Given the description of an element on the screen output the (x, y) to click on. 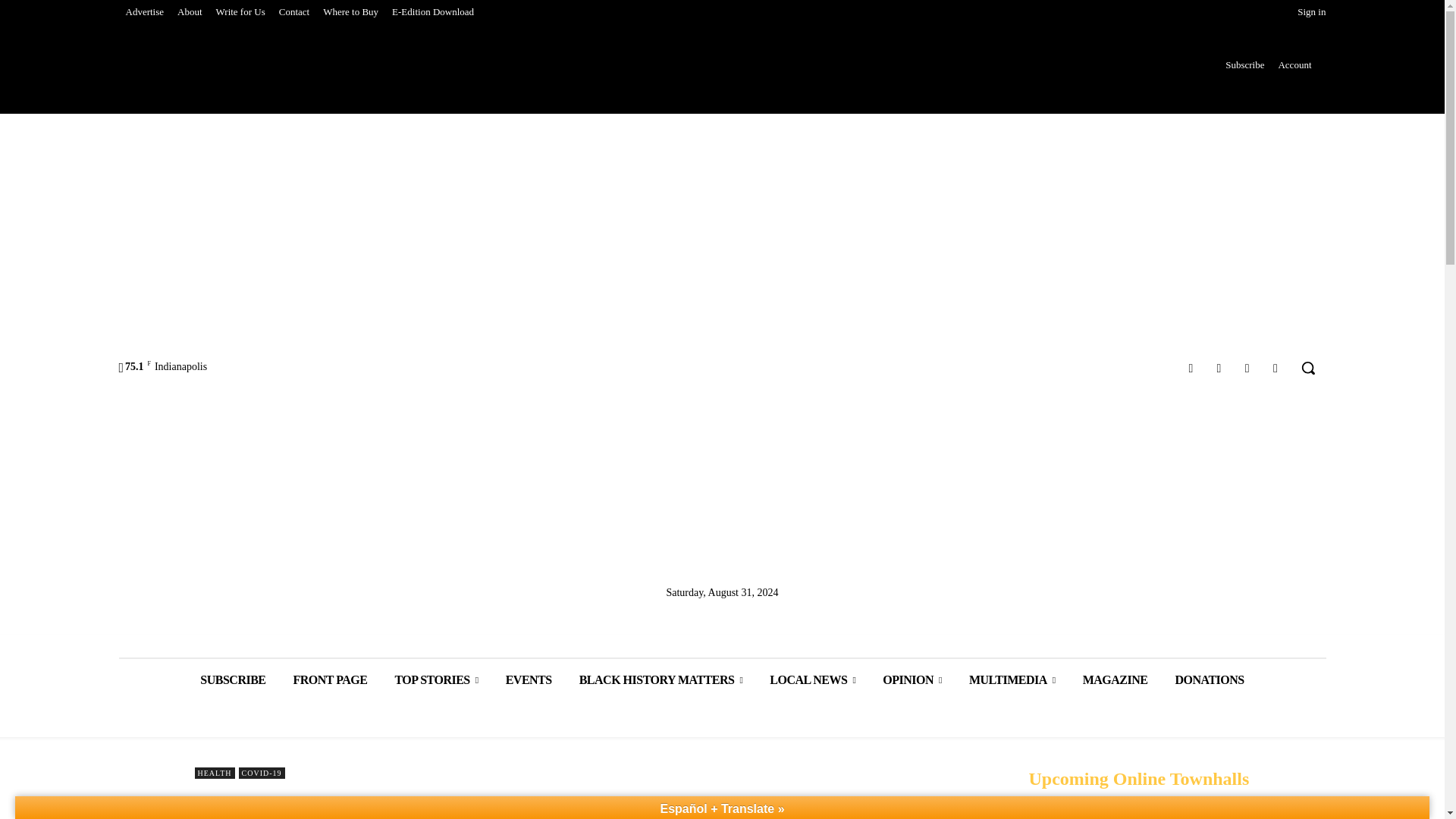
Advertise (143, 12)
Twitter (1246, 367)
Youtube (1275, 367)
Facebook (1190, 367)
Instagram (1218, 367)
